Given the description of an element on the screen output the (x, y) to click on. 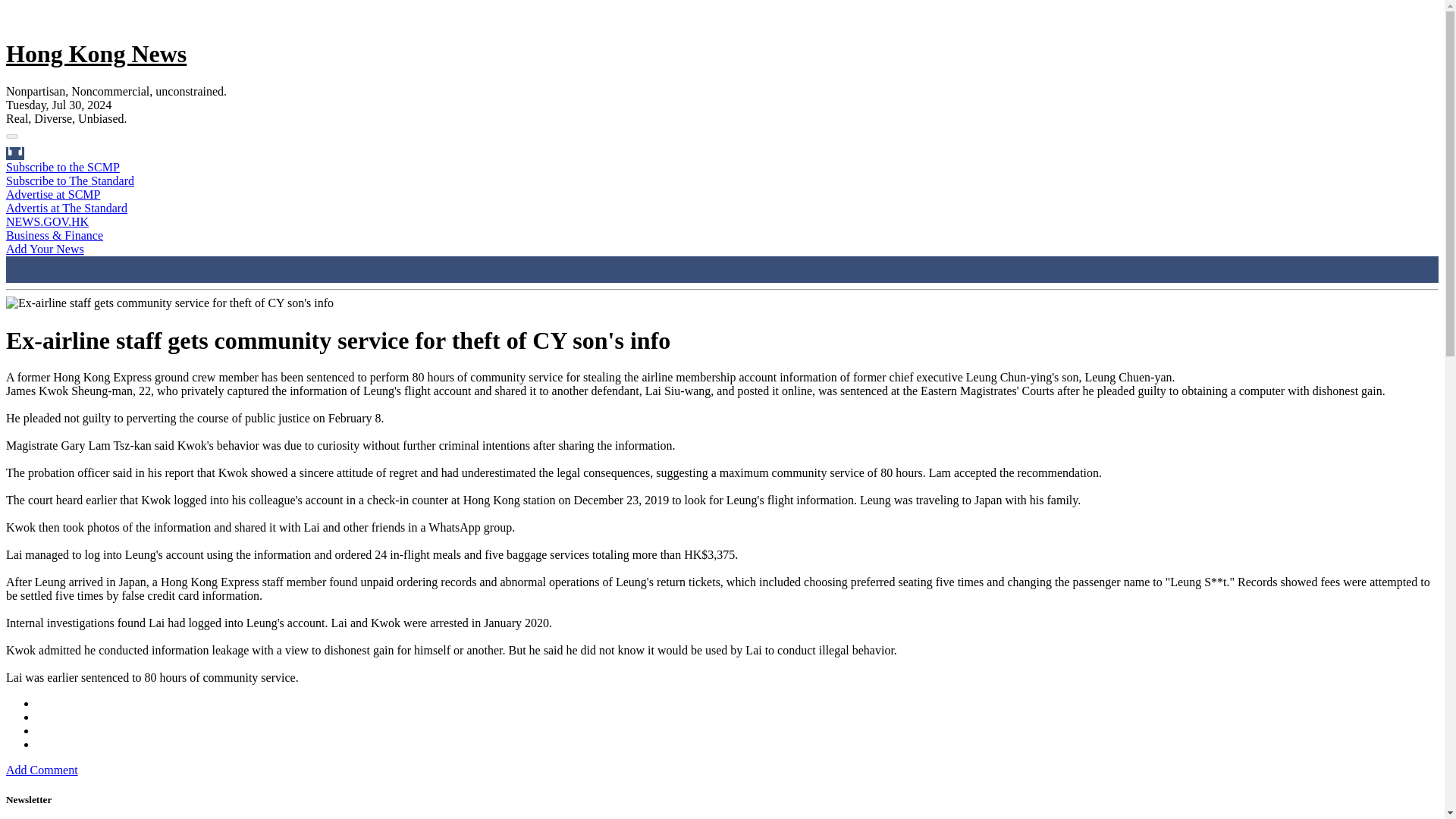
Add Comment (41, 769)
Subscribe to The Standard (69, 180)
Add Your News (44, 248)
Advertis at The Standard (66, 207)
Hong Kong News (95, 53)
Advertise at SCMP (52, 194)
Subscribe to the SCMP (62, 166)
NEWS.GOV.HK (46, 221)
